Given the description of an element on the screen output the (x, y) to click on. 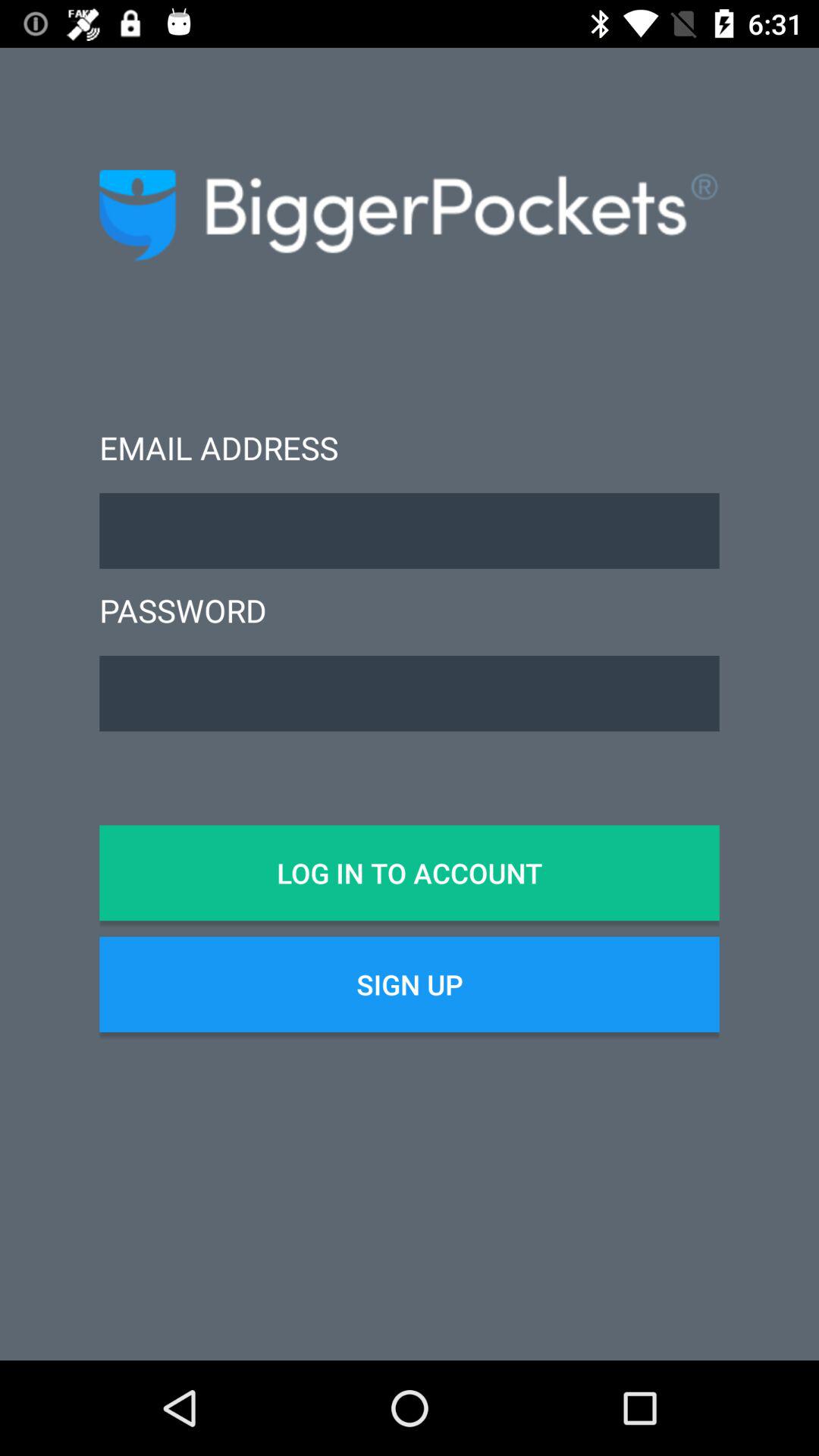
swipe to sign up icon (409, 984)
